Given the description of an element on the screen output the (x, y) to click on. 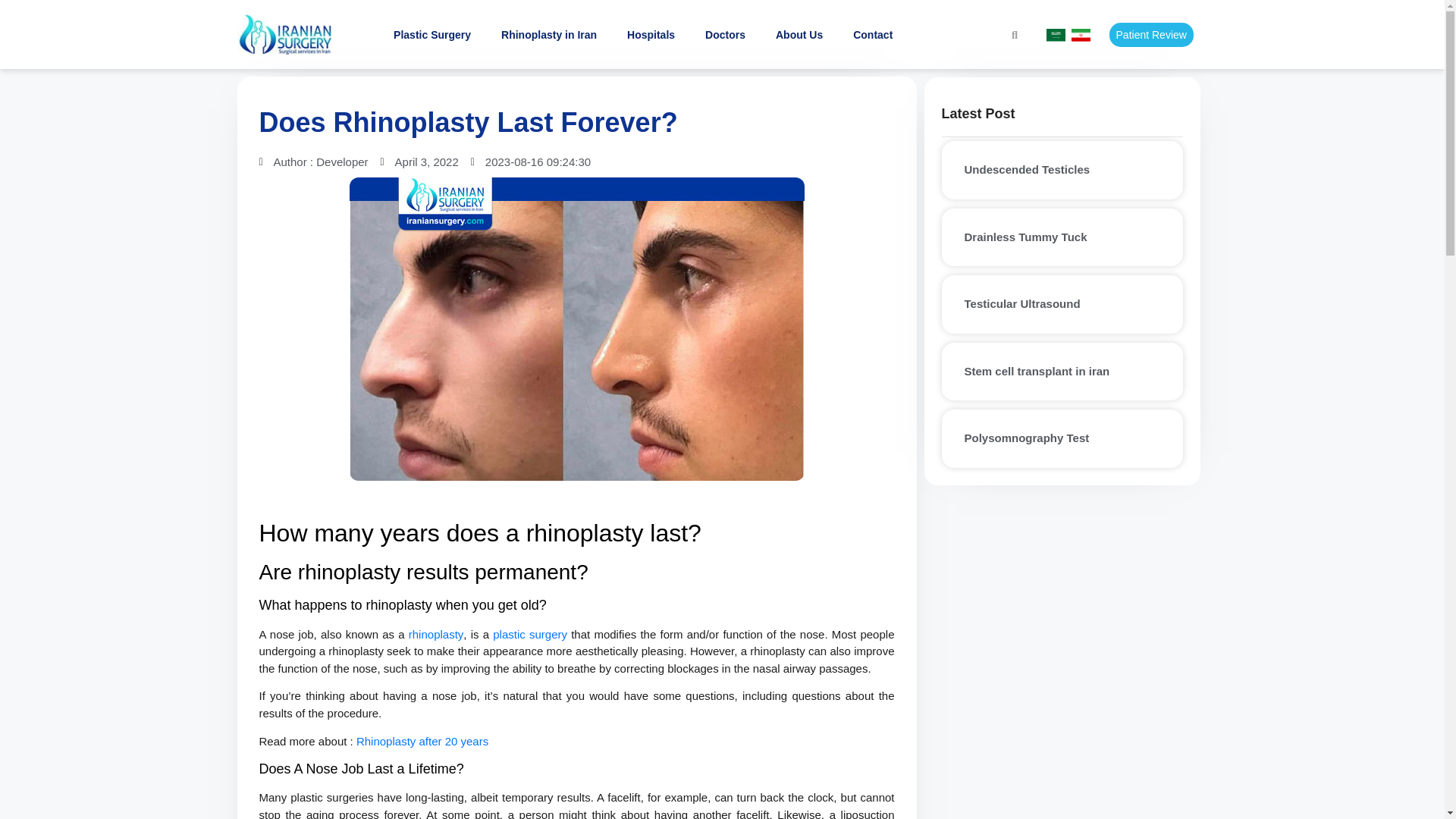
About Us (799, 34)
Hospitals (651, 34)
Plastic Surgery (431, 34)
Doctors (724, 34)
Rhinoplasty in Iran (548, 34)
Patient Review (1151, 34)
Contact (872, 34)
